Given the description of an element on the screen output the (x, y) to click on. 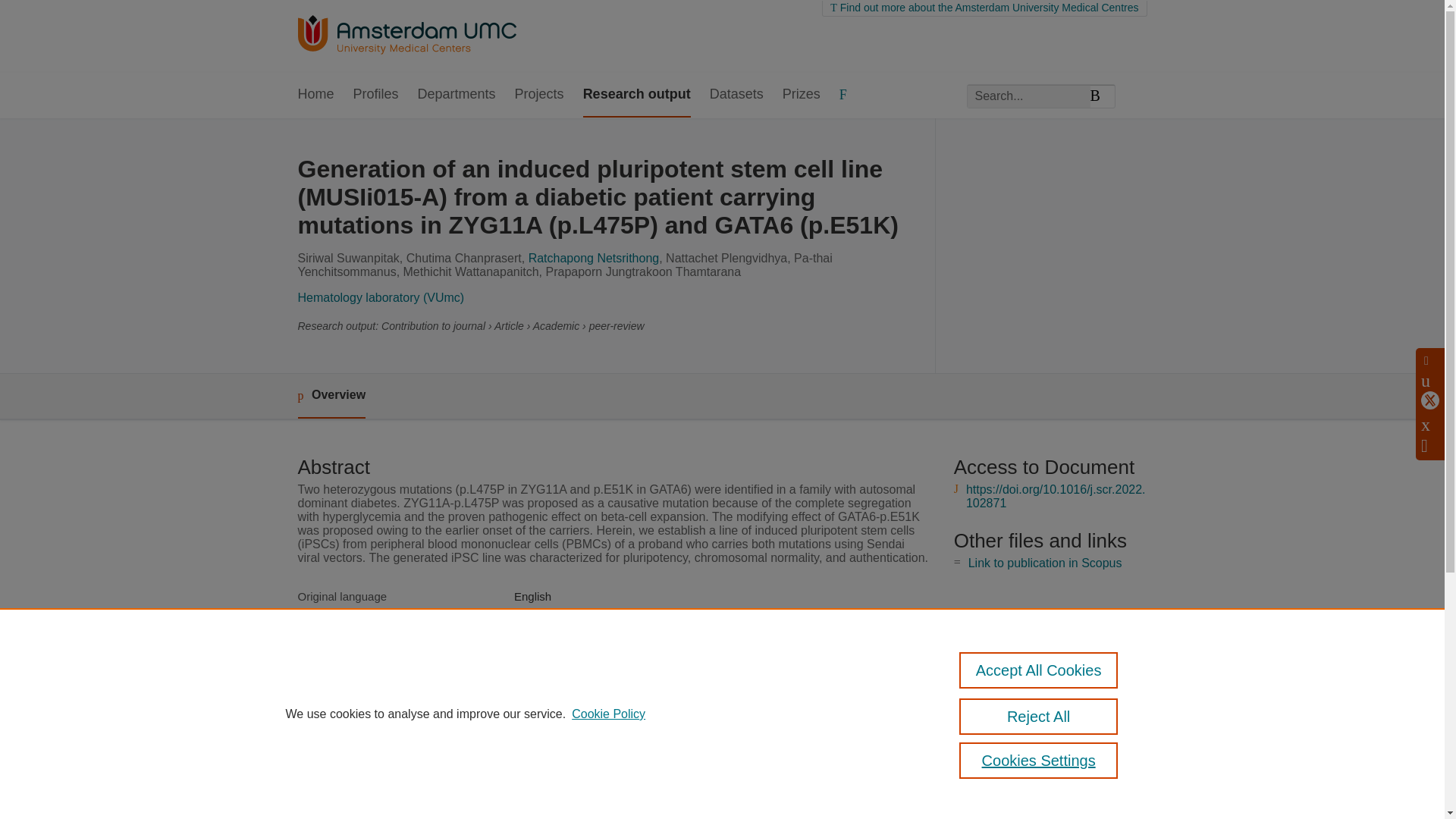
Departments (456, 94)
Datasets (736, 94)
Profiles (375, 94)
Stem Cell Research (563, 631)
Amsterdam UMC research portal Home (406, 36)
Cookies Settings (1038, 760)
Find out more about the Amsterdam University Medical Centres (983, 7)
Research output (636, 94)
Projects (539, 94)
Ratchapong Netsrithong (593, 257)
